Given the description of an element on the screen output the (x, y) to click on. 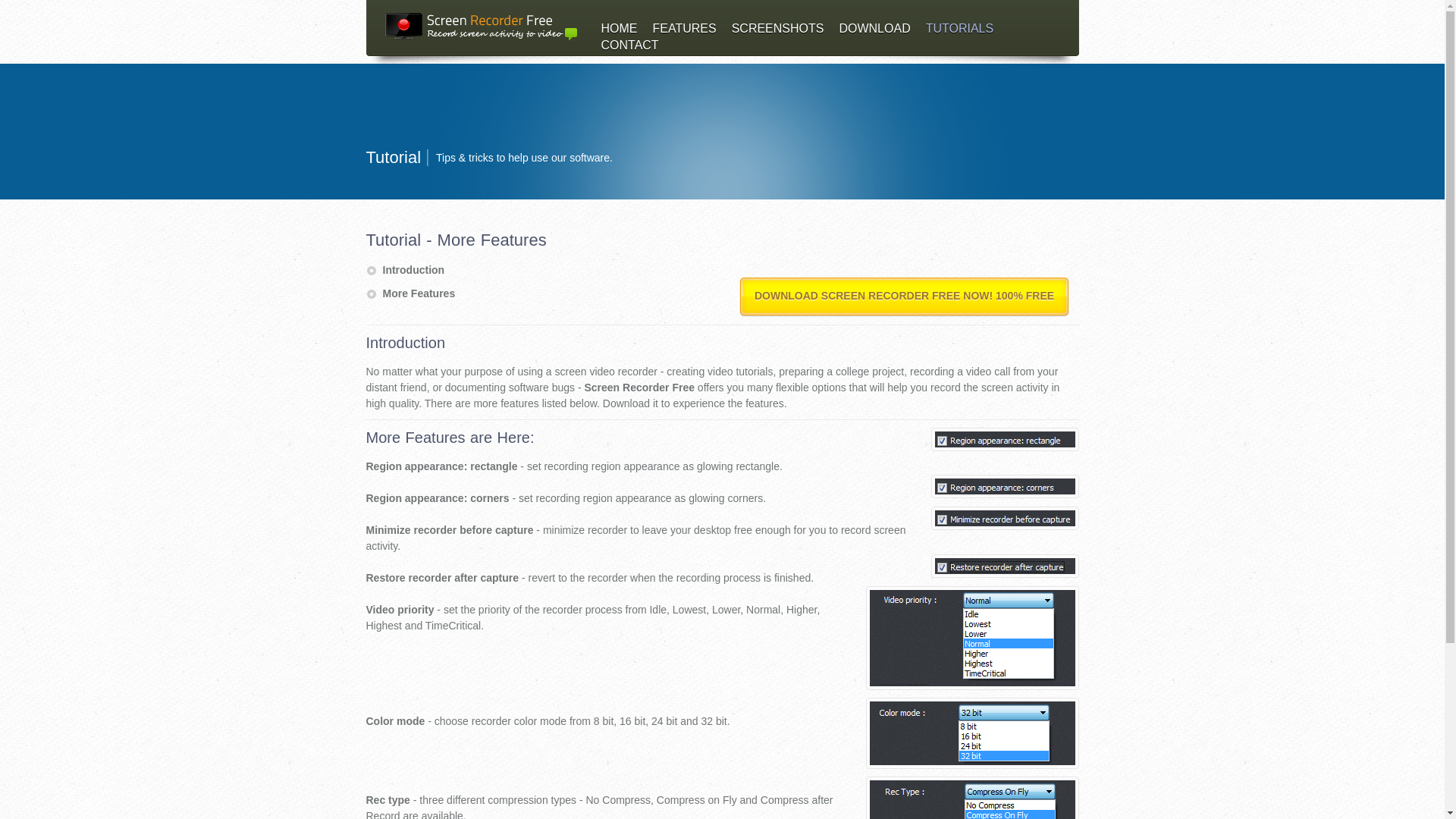
Rec type (972, 797)
Region appearance: rectangle (1004, 439)
Color mode (972, 733)
DOWNLOAD (874, 28)
CONTACT (628, 44)
TUTORIALS (960, 28)
HOME (618, 28)
Restore recorder after capture (1004, 566)
Minimize recorder before capture (1004, 517)
